Given the description of an element on the screen output the (x, y) to click on. 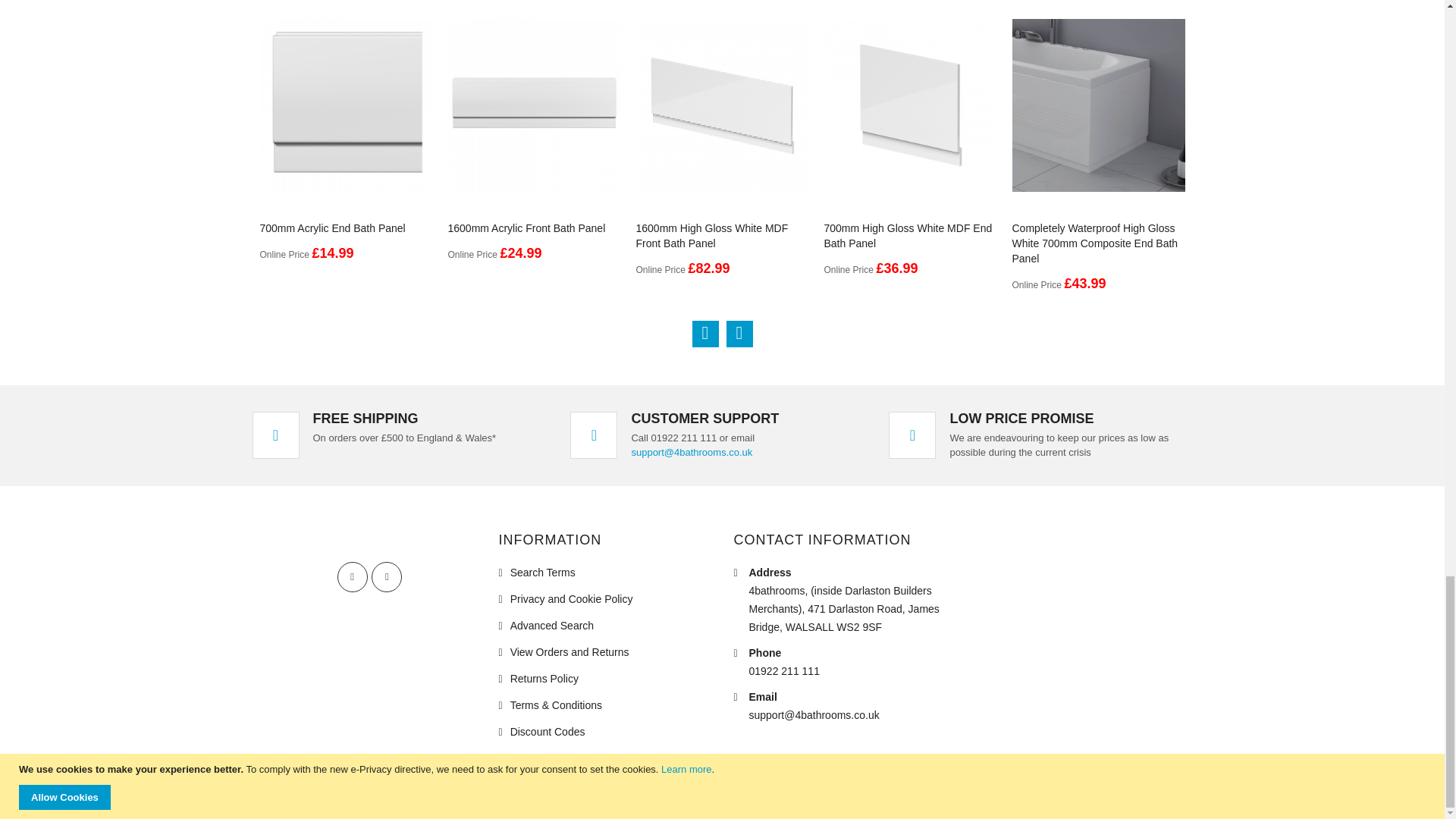
1600mm Acrylic Front Bath Panel (525, 227)
700mm Acrylic End Bath Panel (331, 227)
1600mm High Gloss White MDF Front Bath Panel  (710, 235)
700mm High Gloss White MDF End Bath Panel  (907, 235)
